Given the description of an element on the screen output the (x, y) to click on. 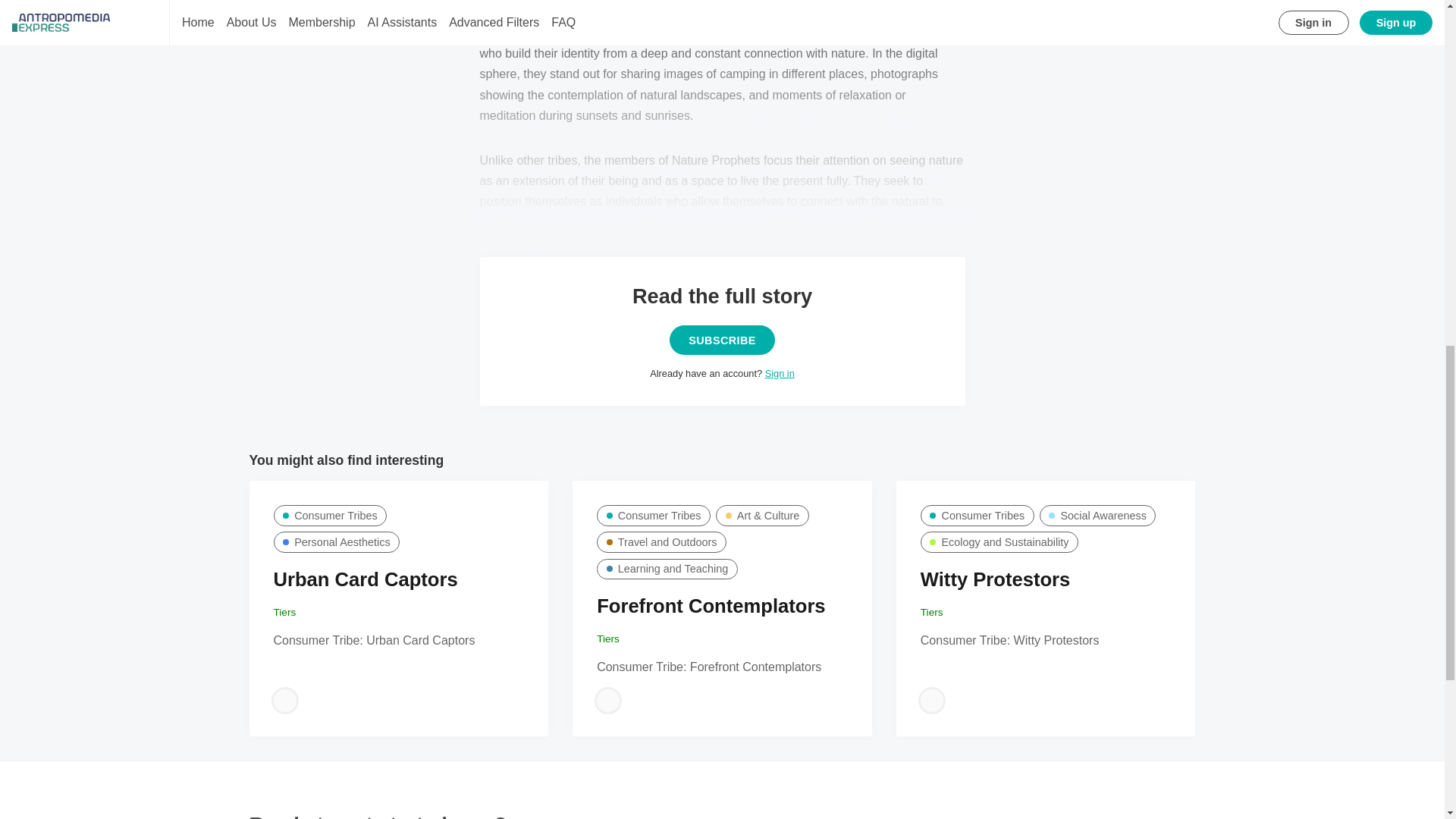
Digital Anthropology Bot (931, 700)
Sign in (779, 373)
Consumer Tribes (330, 515)
SUBSCRIBE (721, 339)
Digital Anthropology Bot (608, 700)
Digital Anthropology Bot (284, 700)
